Given the description of an element on the screen output the (x, y) to click on. 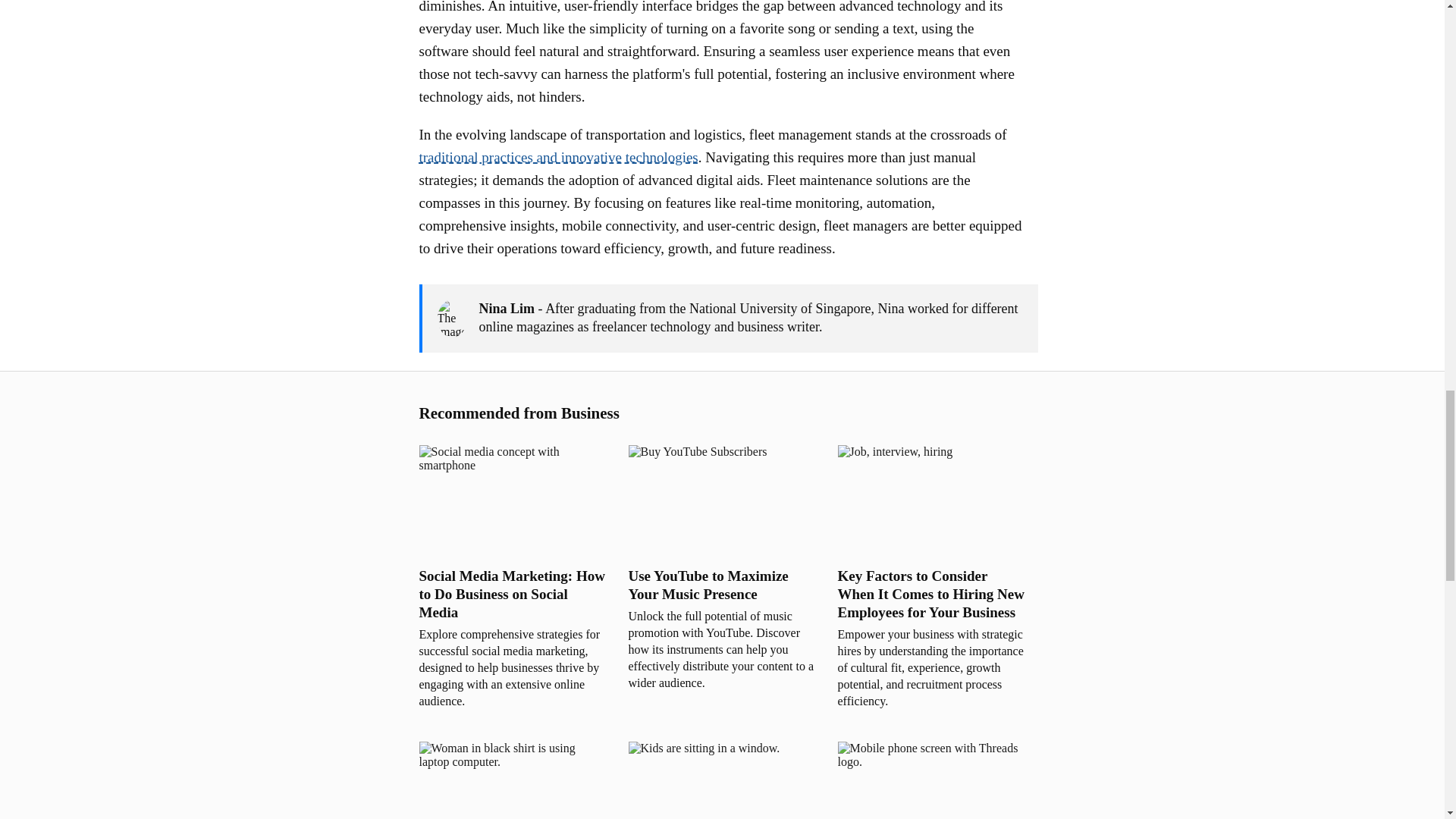
traditional practices and innovative technologies (558, 157)
